Given the description of an element on the screen output the (x, y) to click on. 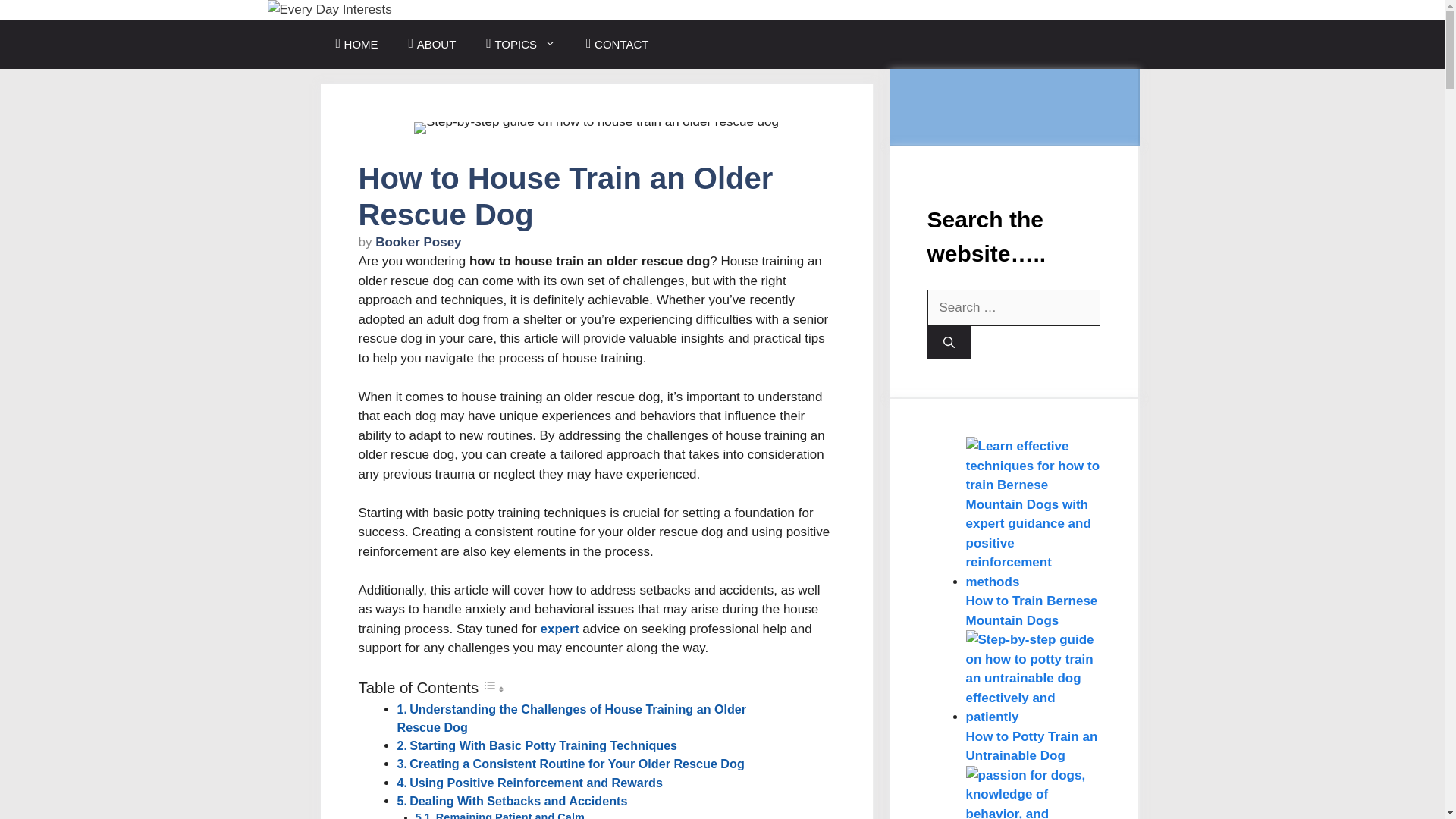
ABOUT (432, 43)
TOPICS (520, 43)
Using Positive Reinforcement and Rewards (535, 782)
Creating a Consistent Routine for Your Older Rescue Dog (576, 763)
Dealing With Setbacks and Accidents (518, 800)
HOME (356, 43)
Remaining Patient and Calm (510, 815)
View all posts by Booker Posey (418, 242)
Starting With Basic Potty Training Techniques (543, 745)
expert (559, 628)
Booker Posey (418, 242)
How to House Train an Older Rescue Dog 1 (595, 127)
CONTACT (616, 43)
